Given the description of an element on the screen output the (x, y) to click on. 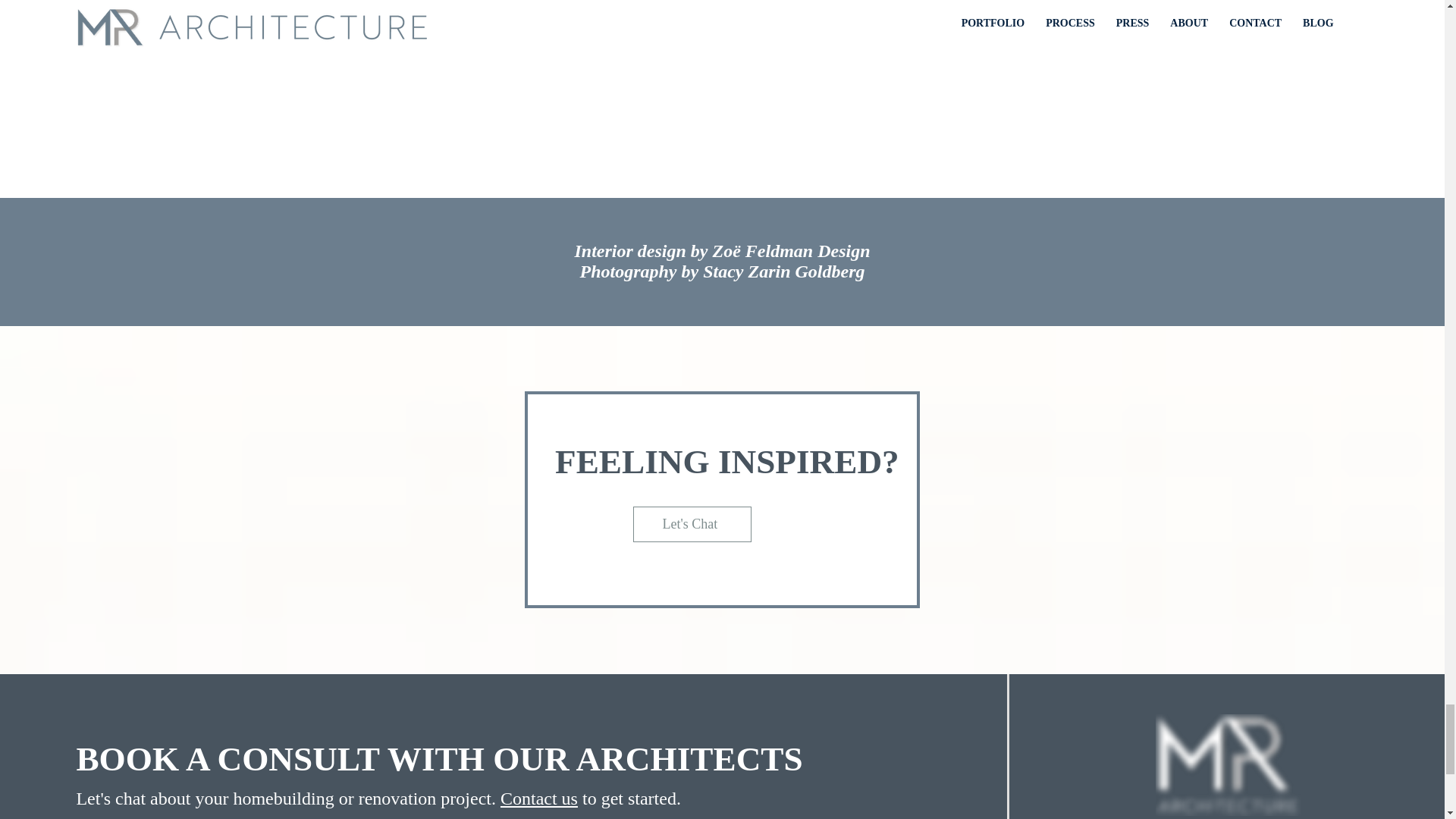
Contact us (539, 798)
Let's Chat (692, 523)
